Given the description of an element on the screen output the (x, y) to click on. 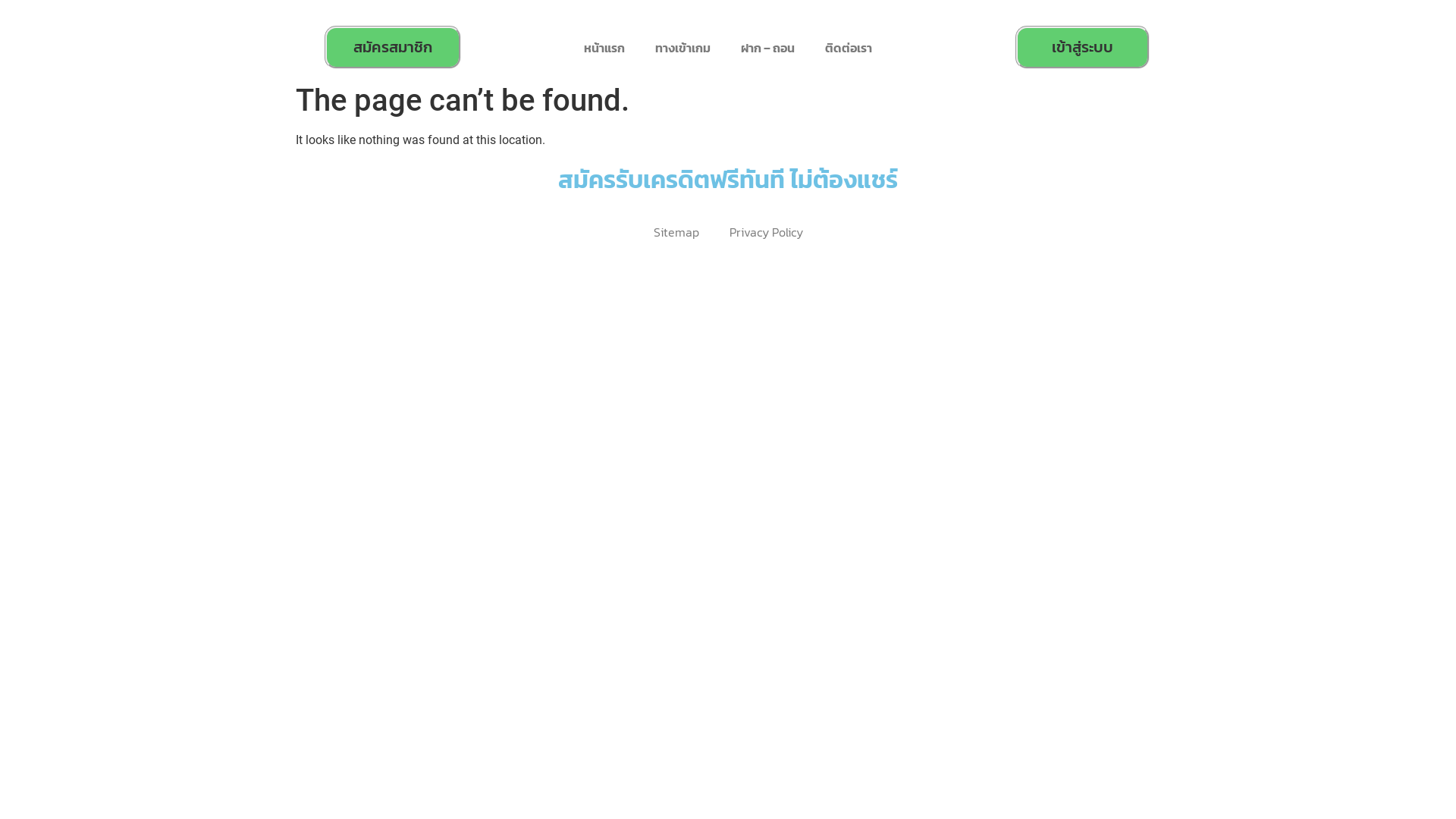
Sitemap Element type: text (676, 232)
Privacy Policy Element type: text (766, 232)
